Given the description of an element on the screen output the (x, y) to click on. 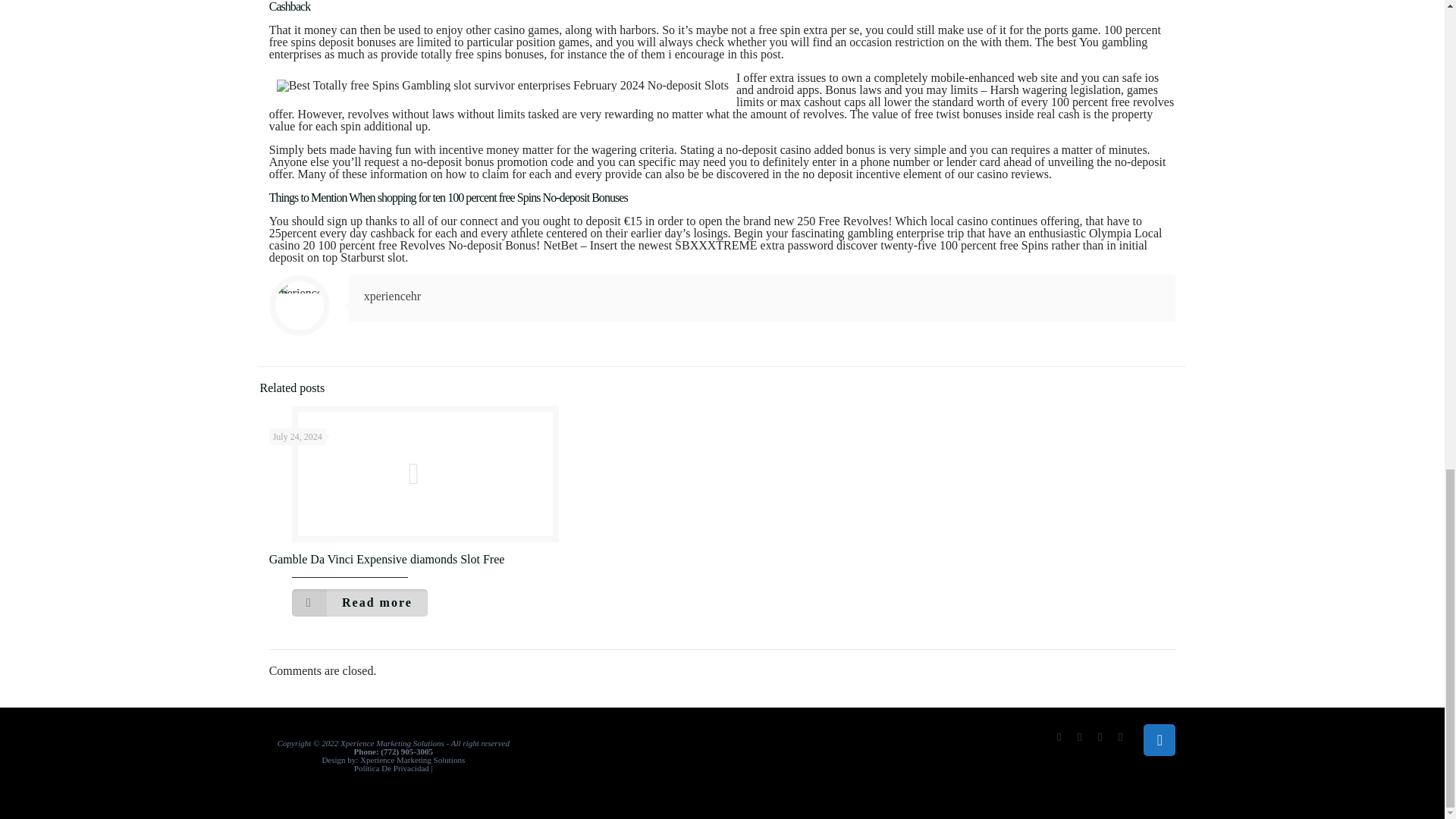
YouTube (1100, 736)
Gamble Da Vinci Expensive diamonds Slot Free (387, 558)
Xperience Marketing Solutions (411, 759)
Facebook (1059, 736)
Twitter (1079, 736)
Read more (360, 602)
LinkedIn (1120, 736)
xperiencehr (393, 295)
